Given the description of an element on the screen output the (x, y) to click on. 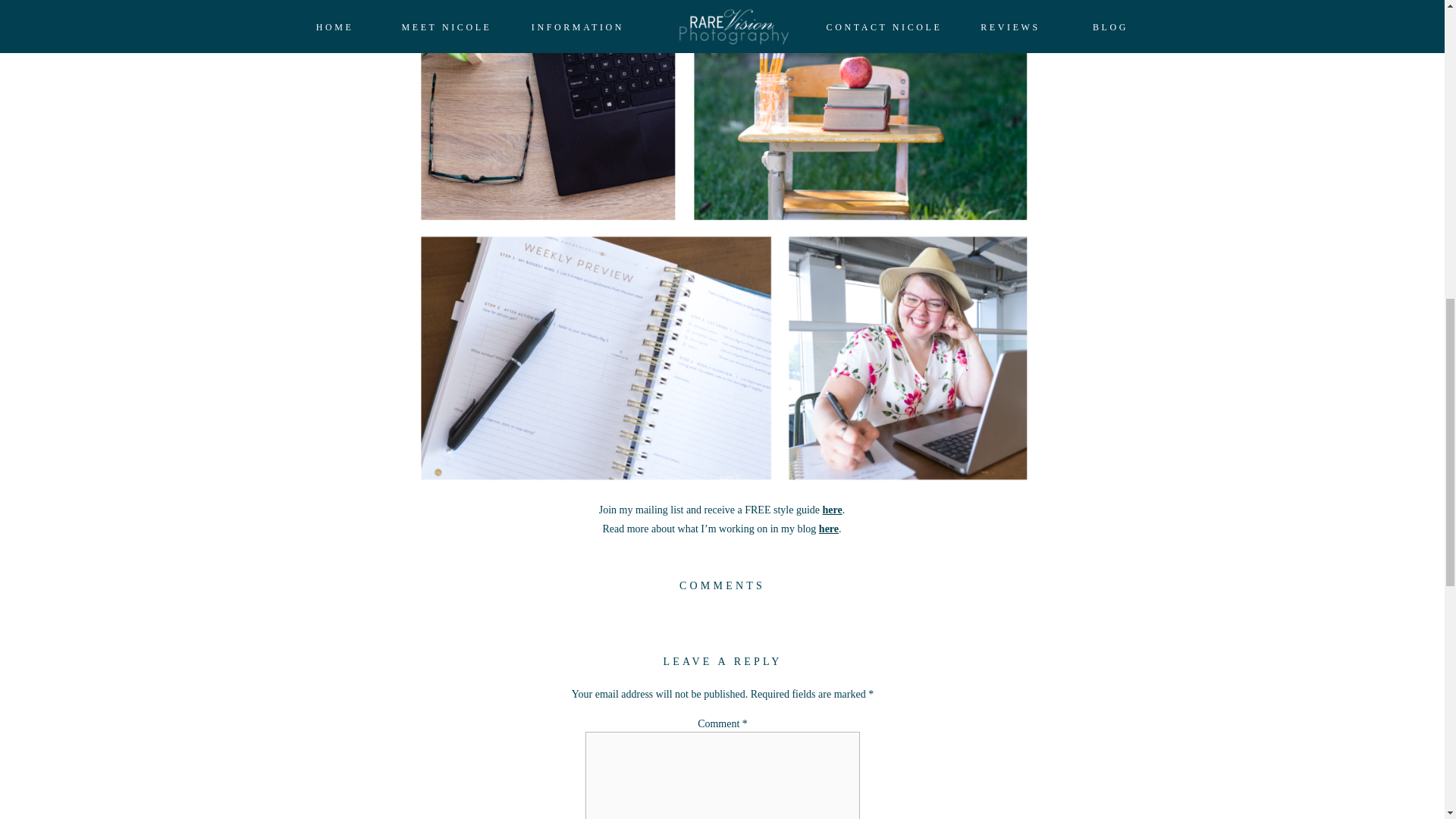
COMMENTS (722, 585)
here (832, 509)
here (828, 528)
